Given the description of an element on the screen output the (x, y) to click on. 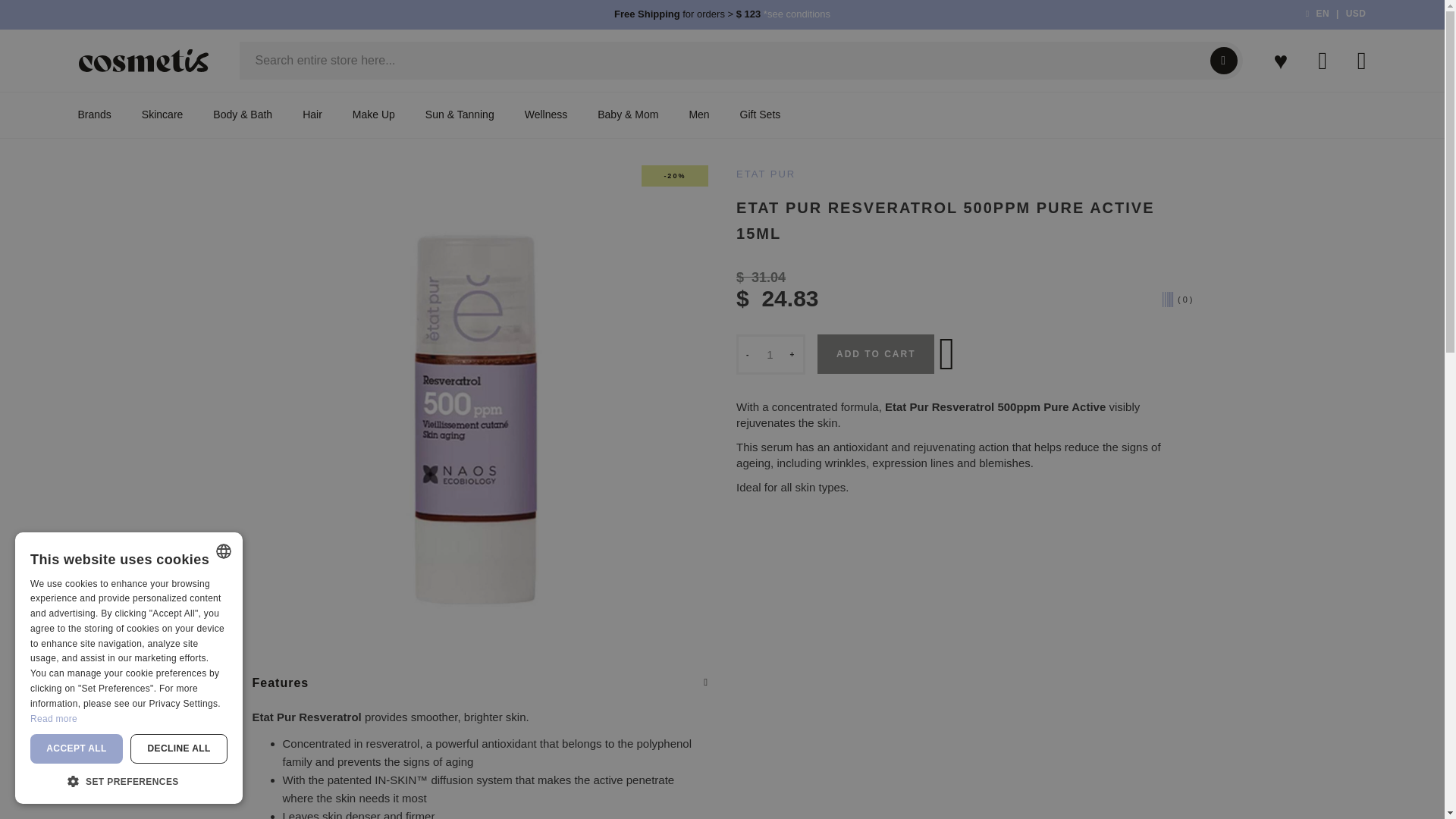
Cosmetis (143, 60)
Cosmetis (143, 60)
